Given the description of an element on the screen output the (x, y) to click on. 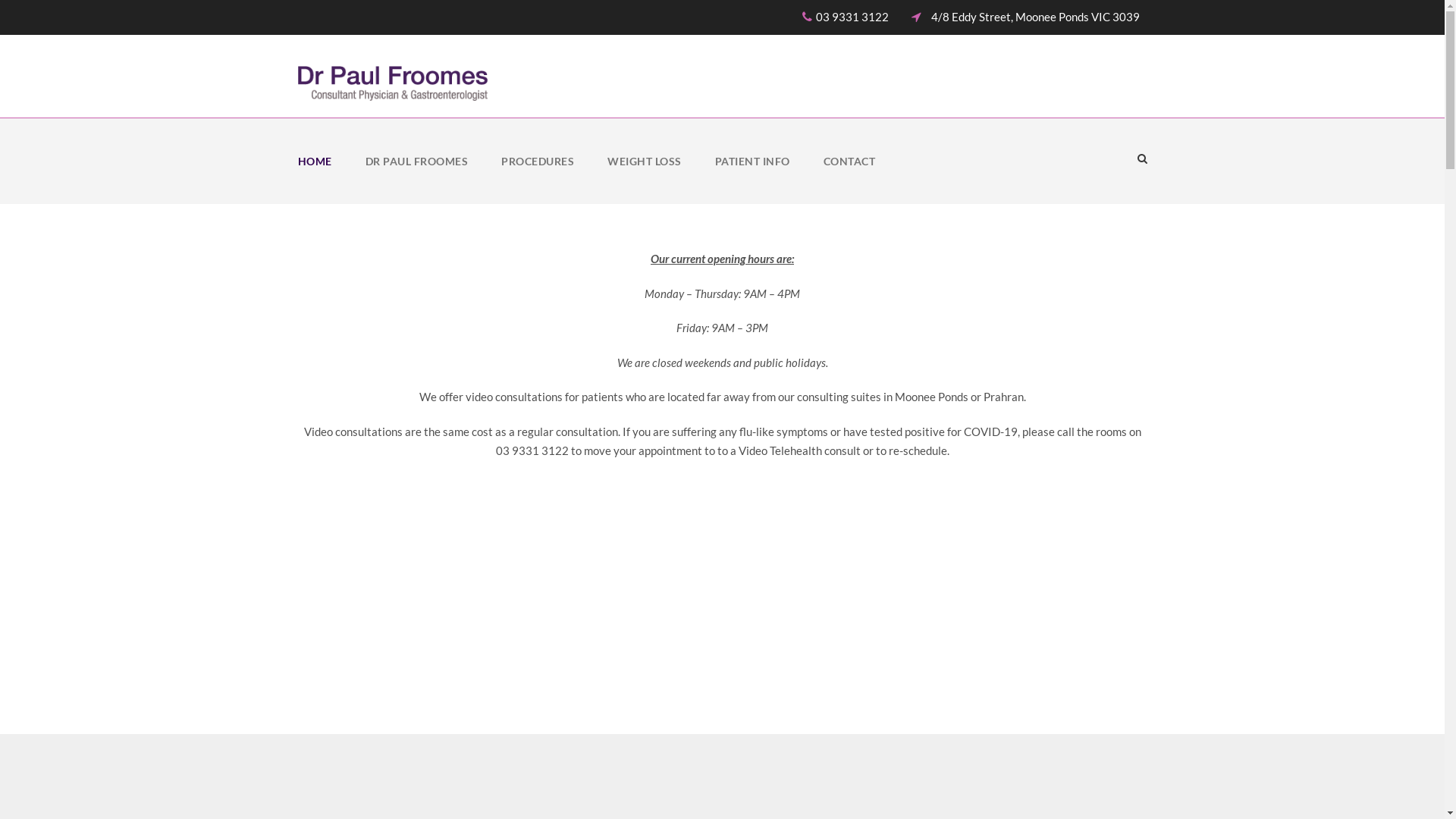
New Patient Form Element type: text (955, 443)
PROCEDURES Element type: text (537, 178)
03 9331 3122 Element type: text (853, 16)
03 9331 3122 Element type: text (482, 409)
Disclaimer Element type: text (647, 624)
Referral Requests Element type: text (953, 482)
All Locations Element type: text (342, 688)
WEIGHT LOSS Element type: text (644, 178)
Legal/ Privacy Element type: text (654, 586)
Contact Element type: text (931, 520)
CONTACT Element type: text (849, 178)
The IBS Doctor Element type: text (947, 404)
HOME Element type: text (314, 178)
PATIENT INFO Element type: text (751, 178)
DR PAUL FROOMES Element type: text (416, 178)
